Given the description of an element on the screen output the (x, y) to click on. 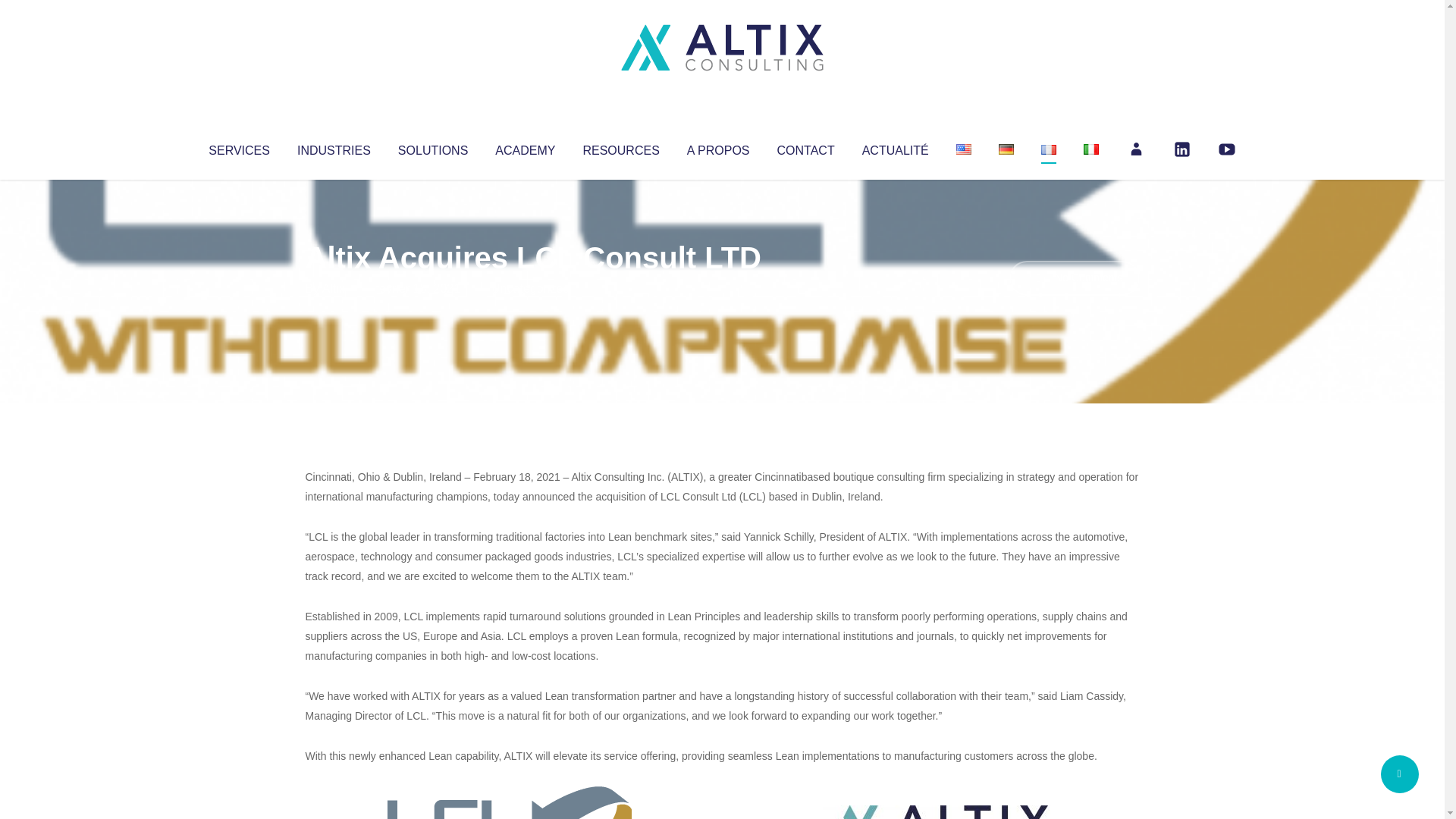
No Comments (1073, 278)
RESOURCES (620, 146)
Articles par Altix (333, 287)
Uncategorized (530, 287)
INDUSTRIES (334, 146)
SOLUTIONS (432, 146)
ACADEMY (524, 146)
Altix (333, 287)
SERVICES (238, 146)
A PROPOS (718, 146)
